Given the description of an element on the screen output the (x, y) to click on. 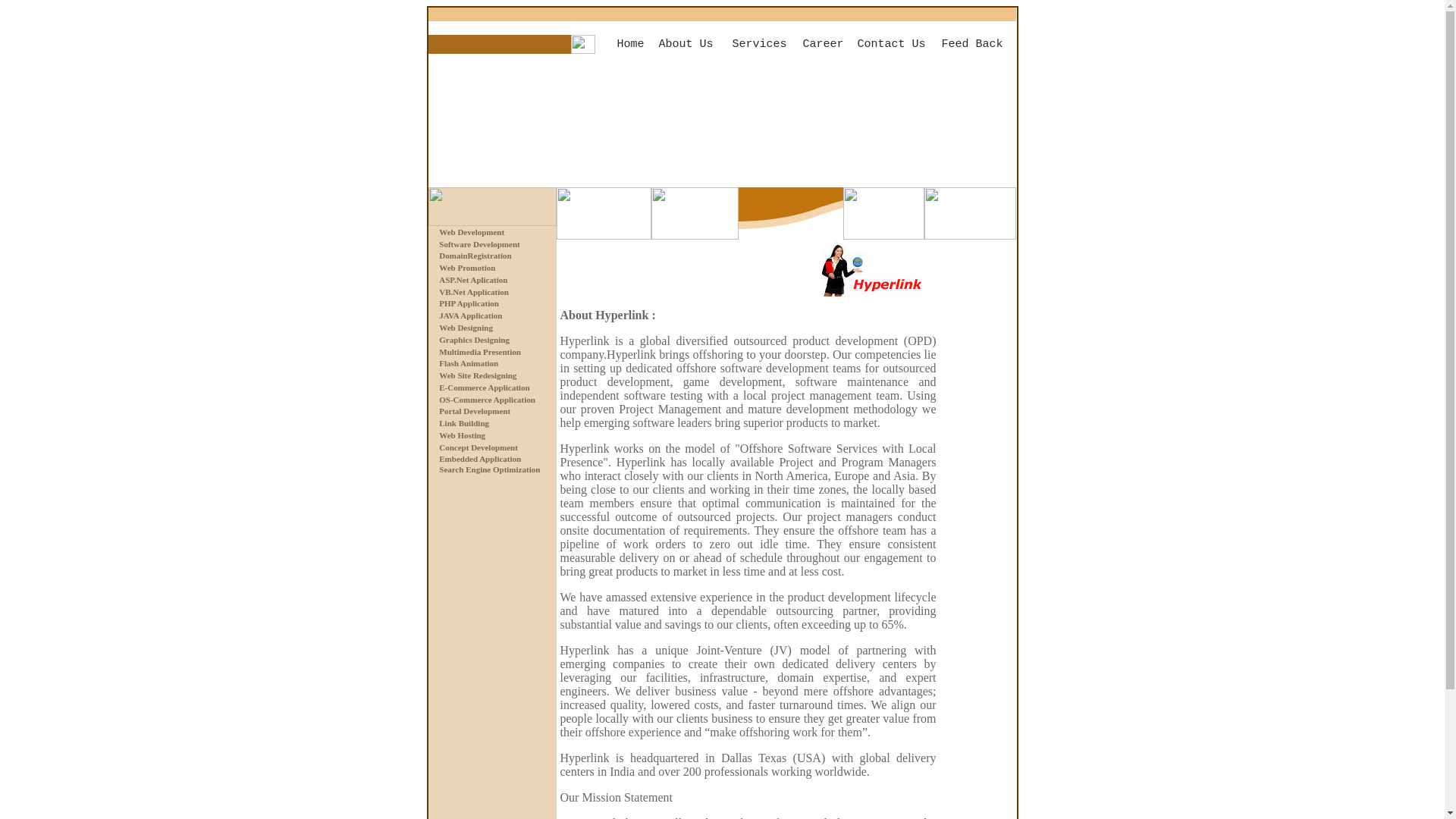
VB.Net Application (473, 291)
ASP.Net Aplication (472, 279)
Multimedia Presention (480, 351)
Career (822, 43)
Web Designing (466, 327)
OS-Commerce Application (487, 399)
PHP Application (469, 302)
Services (759, 43)
Web Hosting (461, 434)
Embedded Application (480, 458)
